Given the description of an element on the screen output the (x, y) to click on. 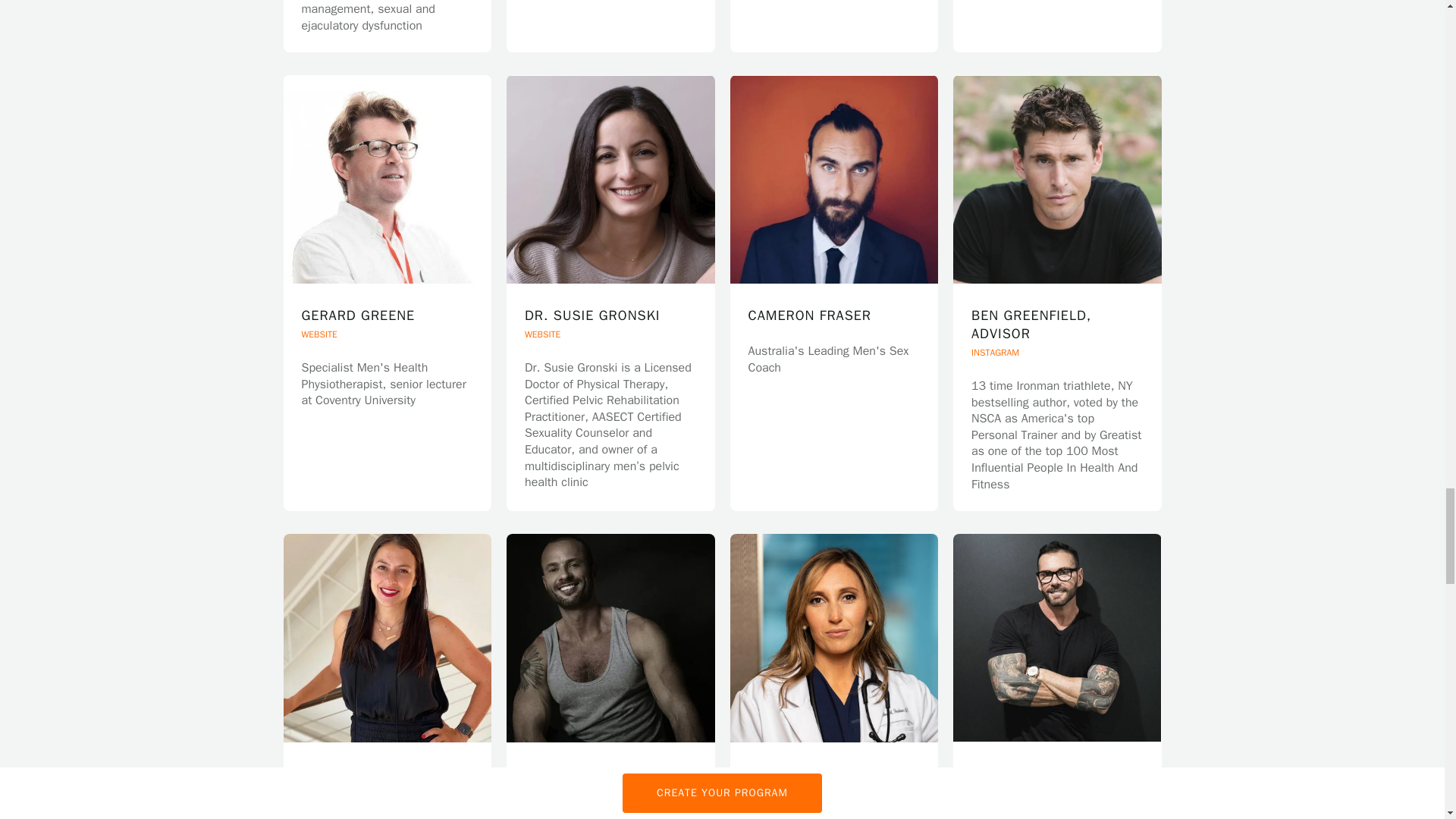
WEBSITE (1057, 7)
